Given the description of an element on the screen output the (x, y) to click on. 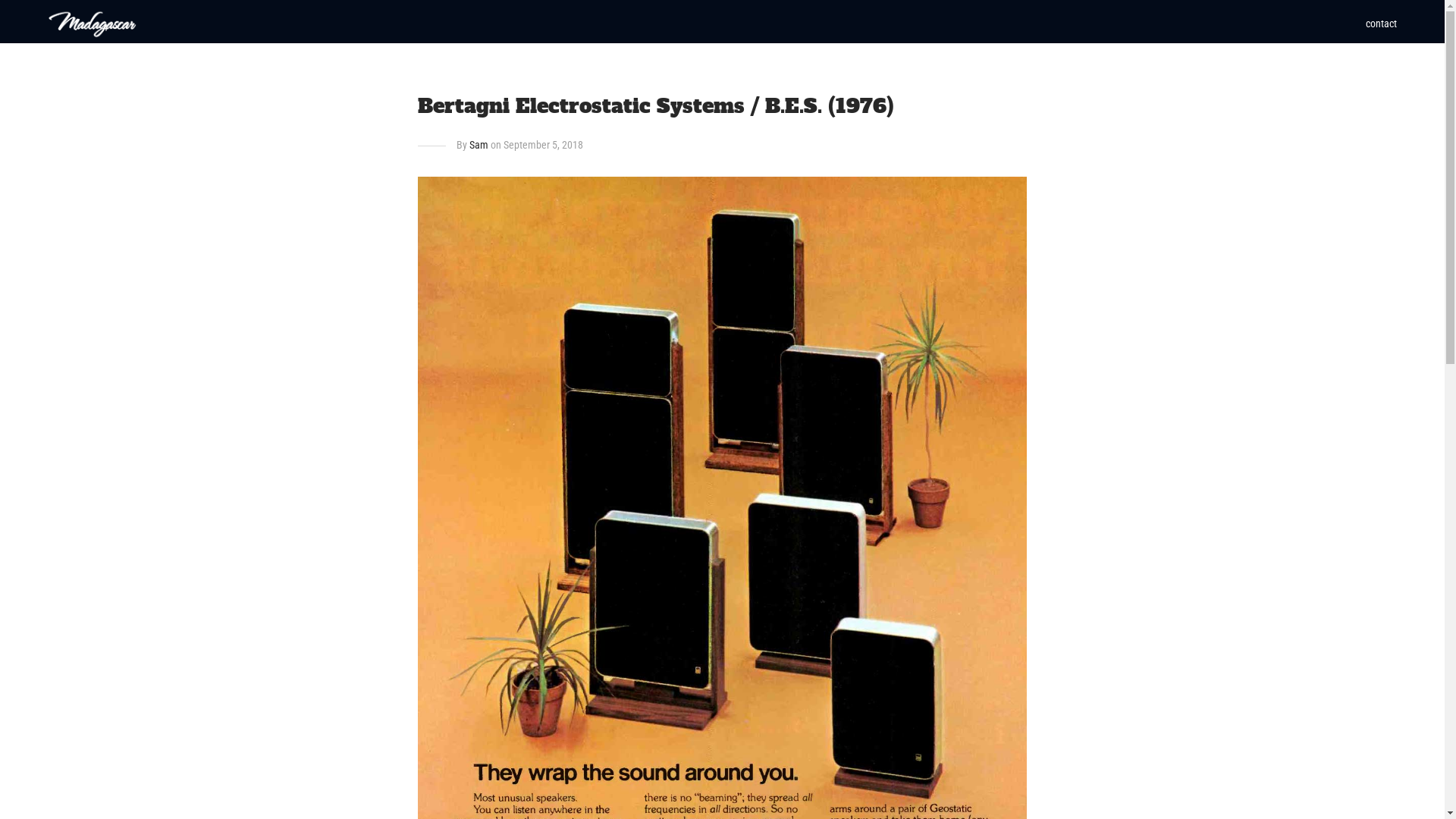
contact Element type: text (1380, 23)
Sam Element type: text (478, 144)
